Given the description of an element on the screen output the (x, y) to click on. 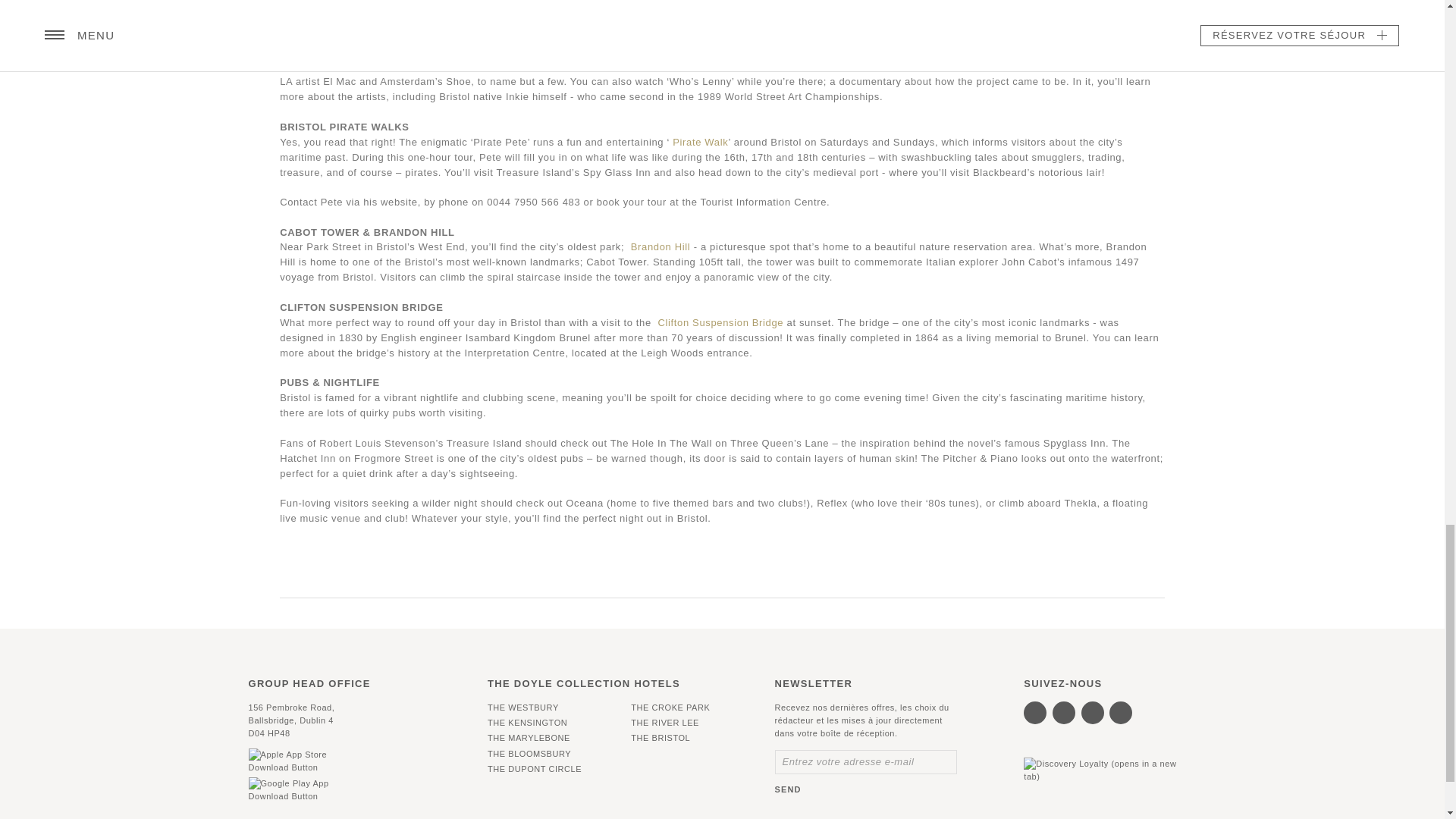
Pirate Walks (700, 142)
Brandon Hill (660, 246)
SEE NO EVIL - STREET ART (352, 35)
Ceilng view of Bristol Cathedral (506, 10)
Clifton Suspension Bridge (720, 322)
